Given the description of an element on the screen output the (x, y) to click on. 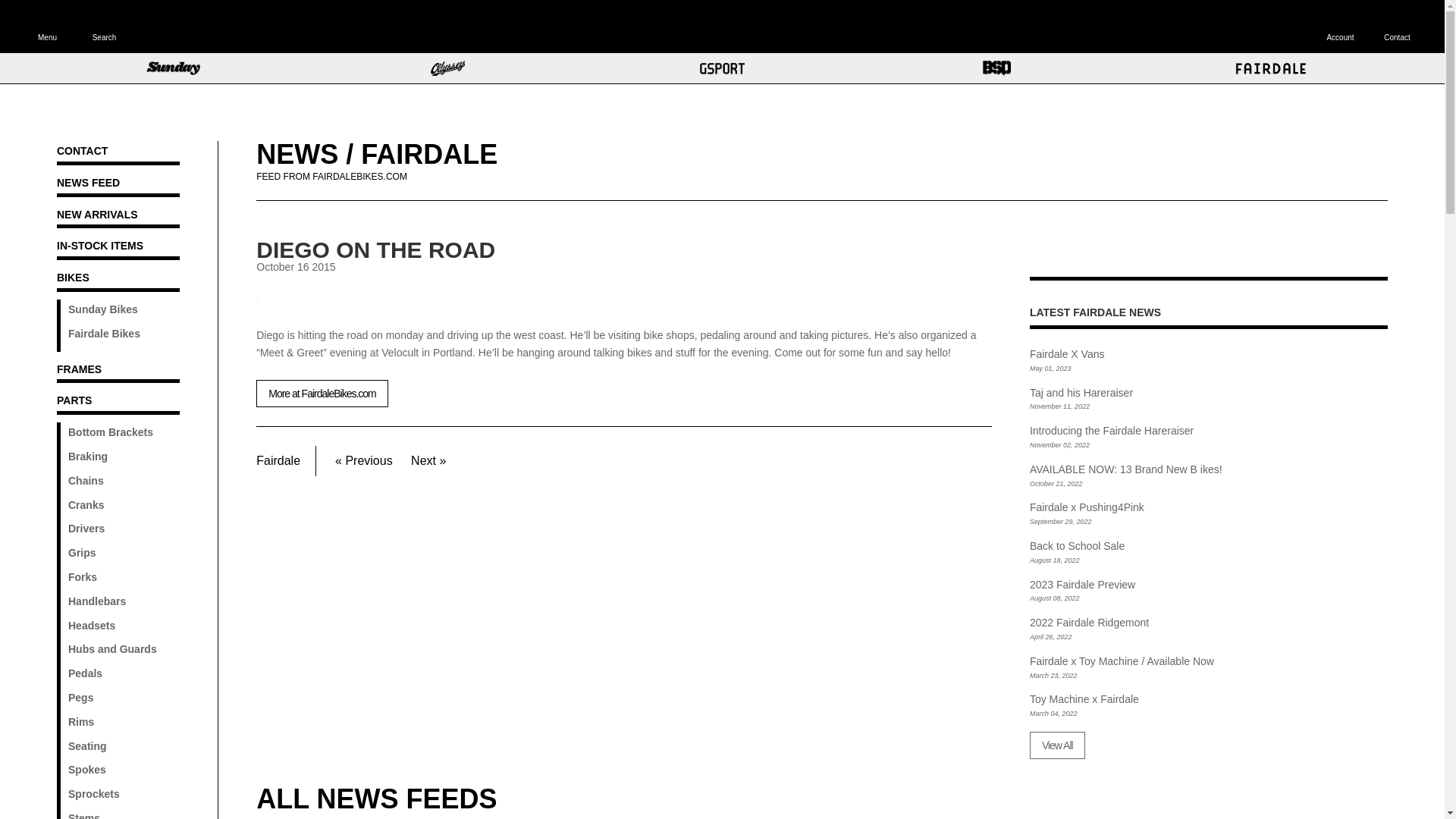
Twitter (1092, 248)
  Menu (46, 26)
instagram (1038, 248)
Facebook (1066, 248)
YouTube (1118, 248)
